Given the description of an element on the screen output the (x, y) to click on. 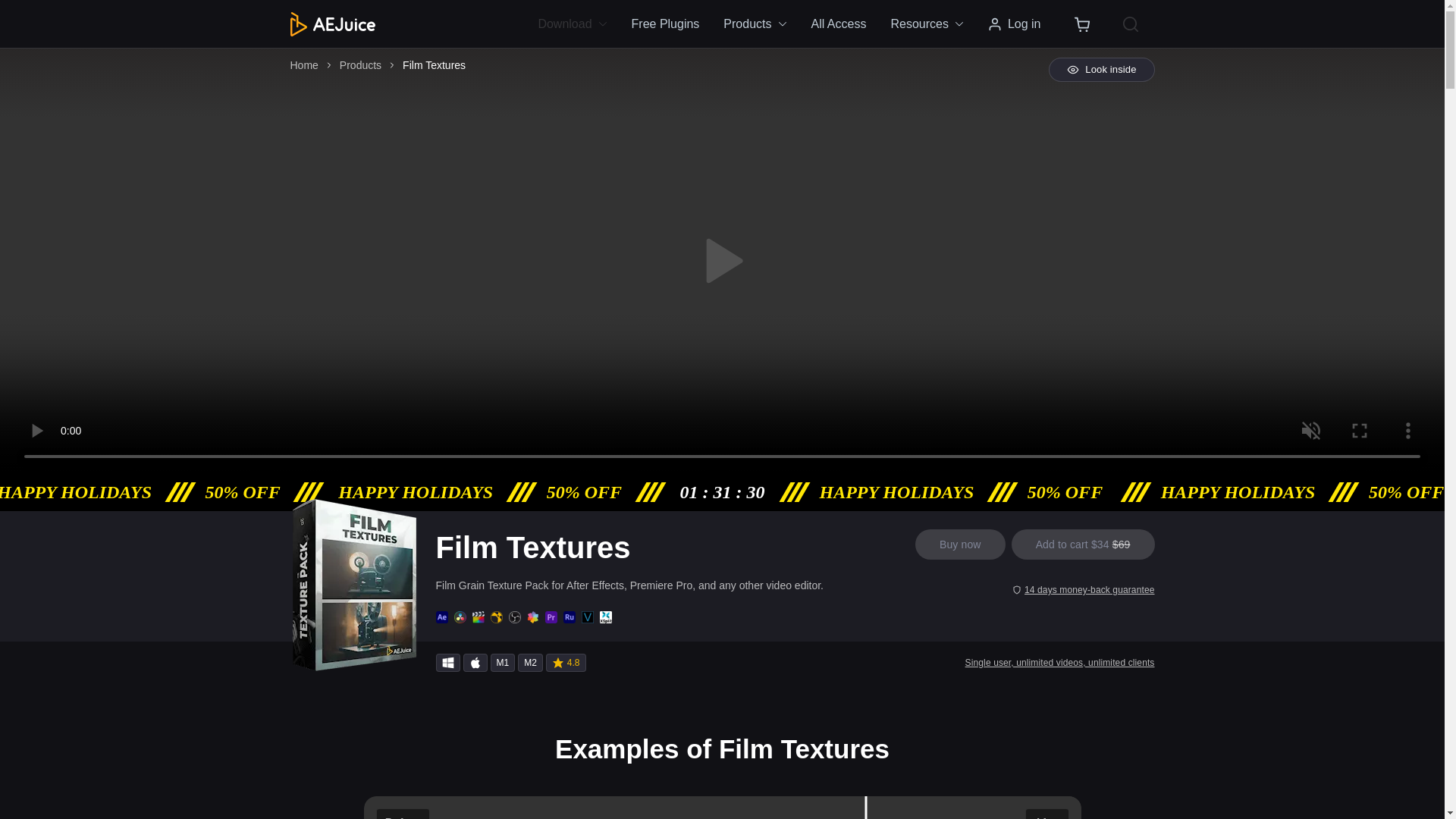
Sony Vegas (586, 616)
Buy now (960, 544)
Nuke (495, 616)
Open Broadcaster Software (513, 616)
All Access (839, 23)
Download (577, 23)
Products (754, 23)
Film Textures (434, 64)
Products (360, 64)
Single user, unlimited videos, unlimited clients (1059, 662)
Log in (1013, 23)
Premiere Pro (550, 616)
Final Cut (477, 616)
14 days money-back guarantee (1082, 589)
XSplit (604, 616)
